Given the description of an element on the screen output the (x, y) to click on. 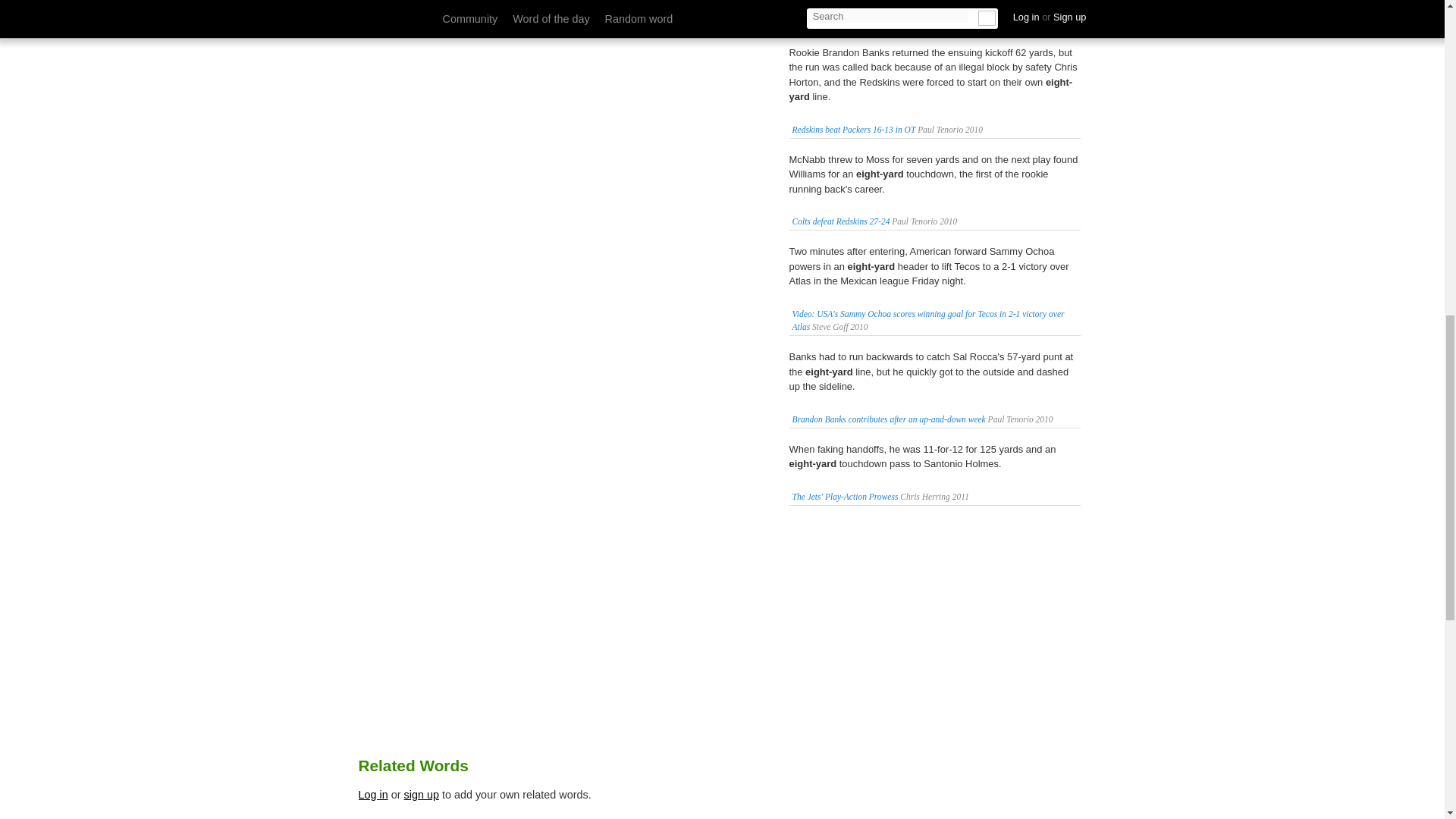
Redskins beat Packers 16-13 in OT (853, 129)
The Jets' Play-Action Prowess (845, 496)
Colts defeat Redskins 27-24 (840, 221)
Log in (372, 794)
Eli's Out-Tebowing Tebow in the Fourth (861, 22)
sign up (421, 794)
Brandon Banks contributes after an up-and-down week (888, 419)
